Given the description of an element on the screen output the (x, y) to click on. 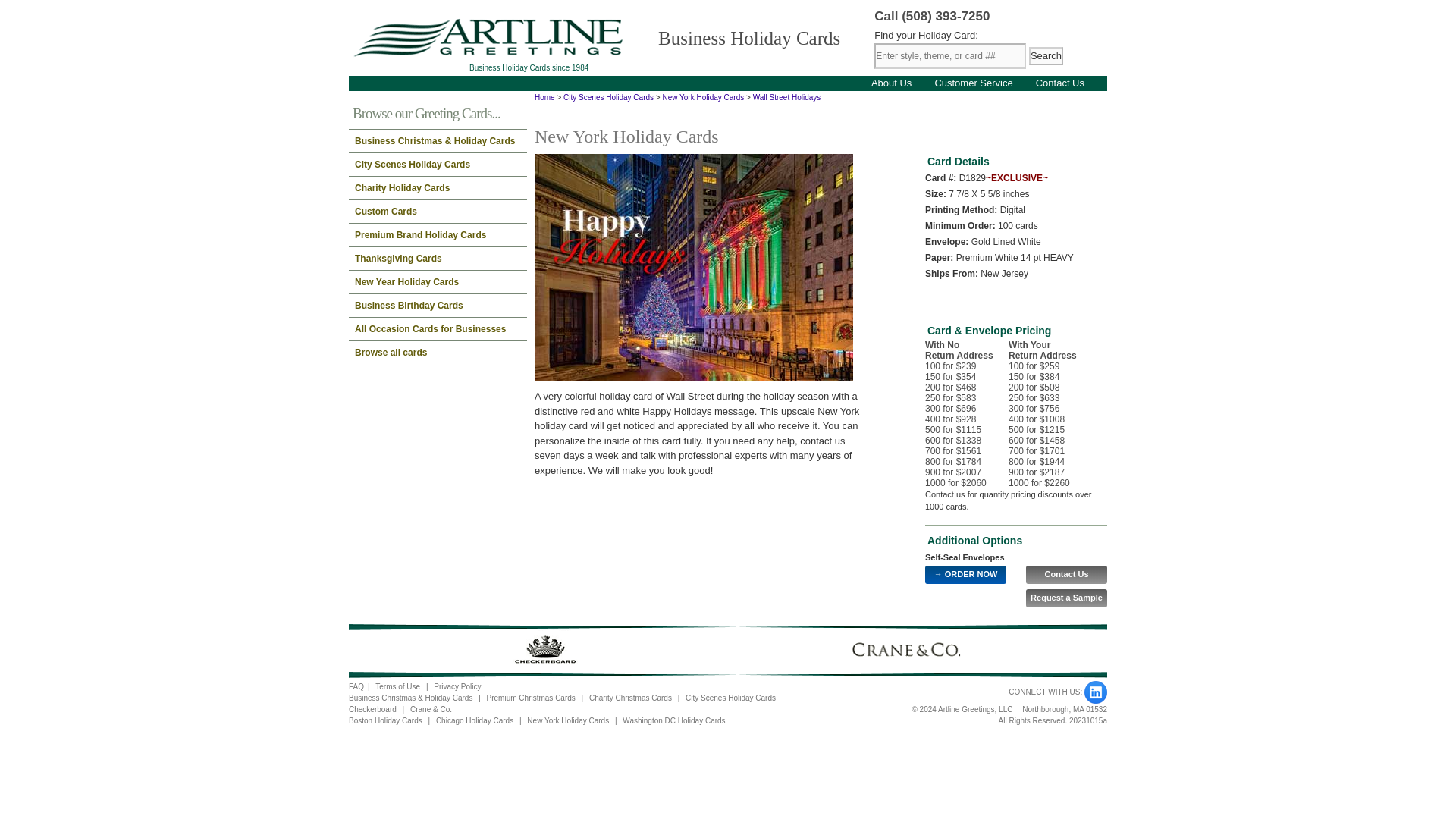
Contact Us (1066, 574)
Customer Service (972, 82)
All Occasion Cards for Businesses (438, 328)
Home (544, 97)
Request a Sample (1066, 597)
Wall Street Holidays (786, 97)
Self-Seal Envelopes (964, 556)
About Us (890, 82)
Browse all cards (438, 352)
FAQ (356, 686)
